Given the description of an element on the screen output the (x, y) to click on. 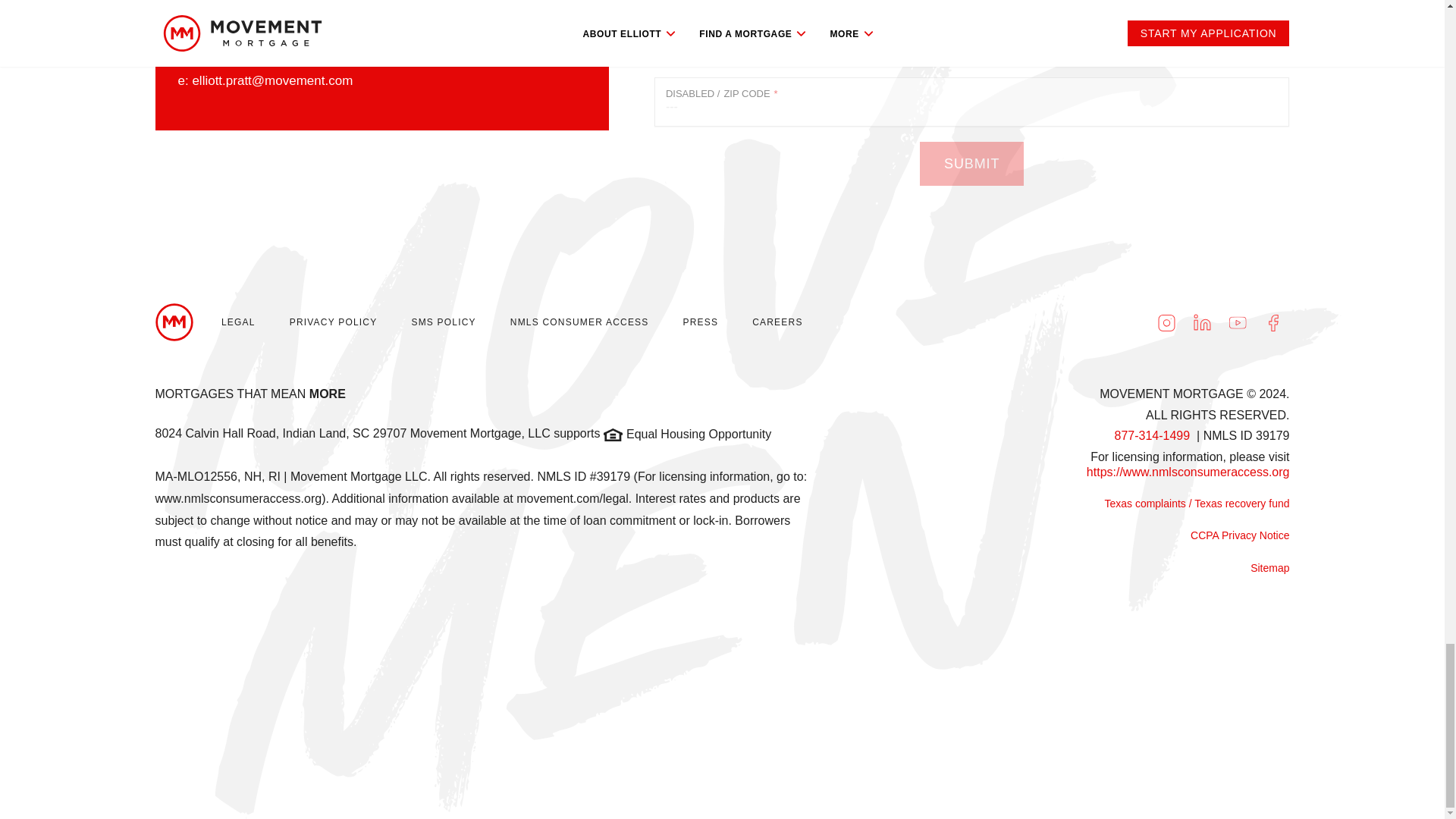
Submit (971, 163)
